Given the description of an element on the screen output the (x, y) to click on. 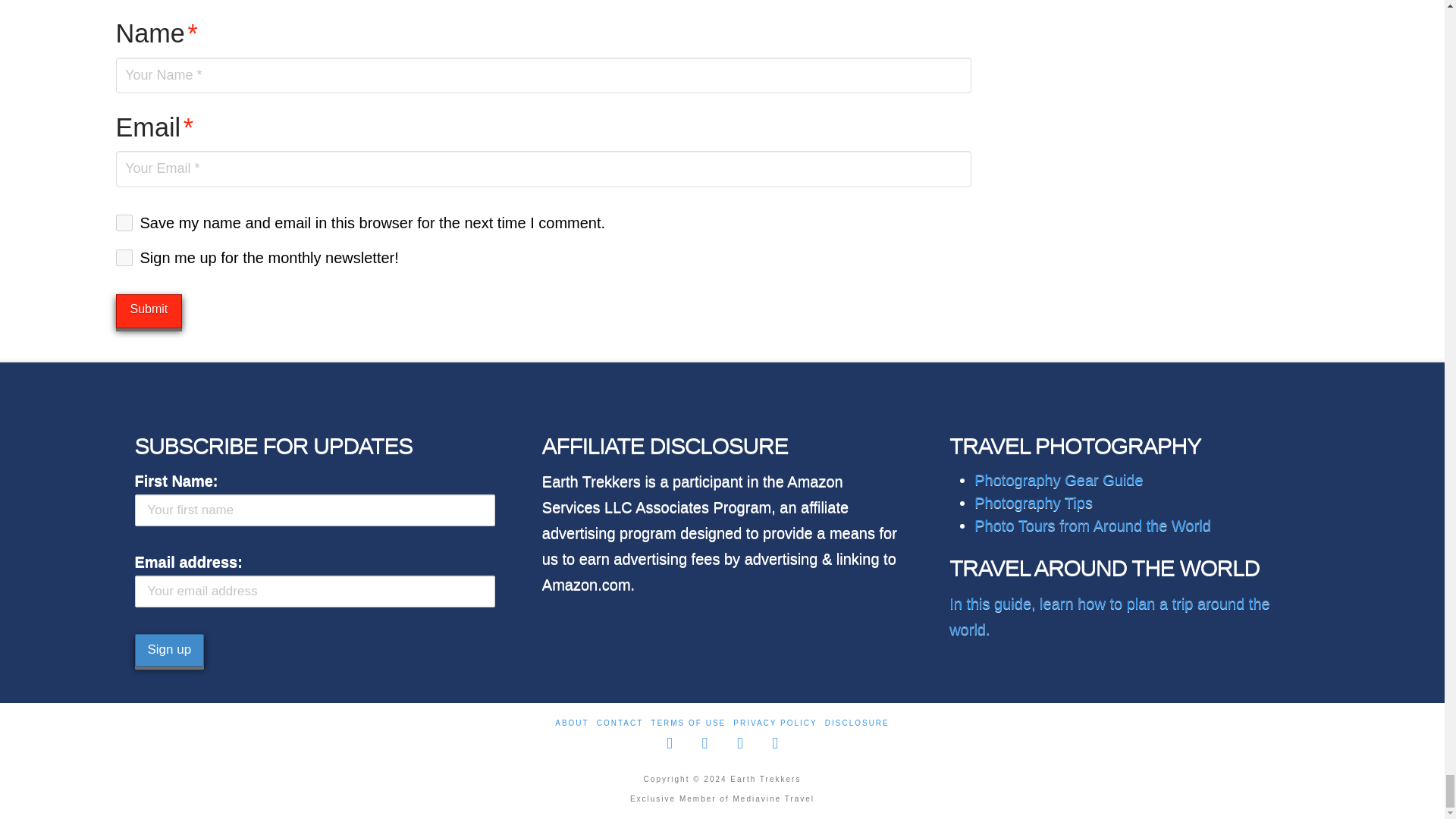
Sign up (170, 649)
Submit (148, 311)
yes (123, 222)
1 (123, 257)
